Given the description of an element on the screen output the (x, y) to click on. 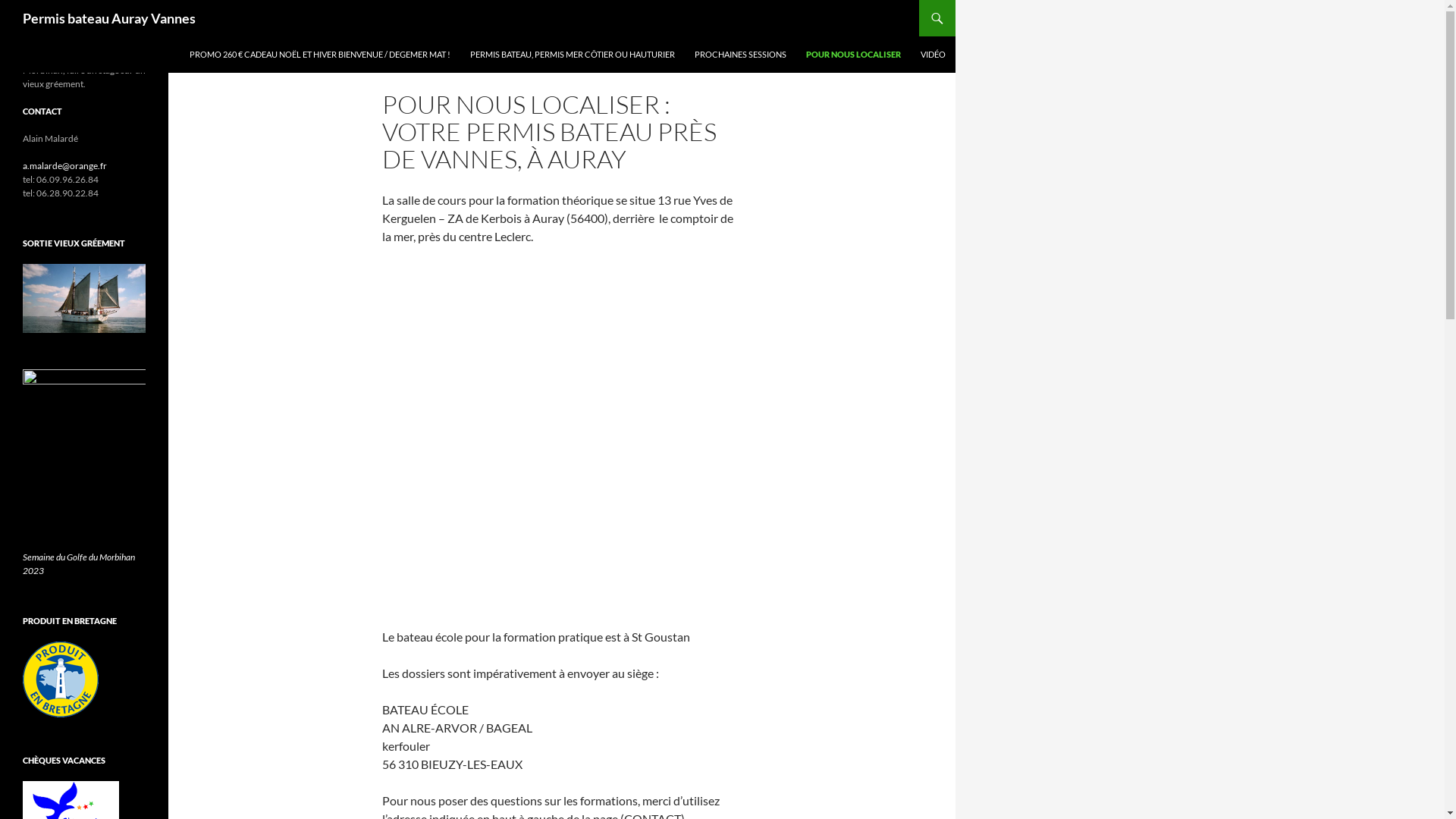
ALLER AU CONTENU Element type: text (188, 35)
POUR NOUS LOCALISER Element type: text (853, 54)
Permis bateau Auray Vannes Element type: text (108, 18)
PROCHAINES SESSIONS Element type: text (740, 54)
a.malarde@orange.fr Element type: text (64, 165)
Semaine du Golfe du Morbihan 2023 Element type: text (78, 563)
